Given the description of an element on the screen output the (x, y) to click on. 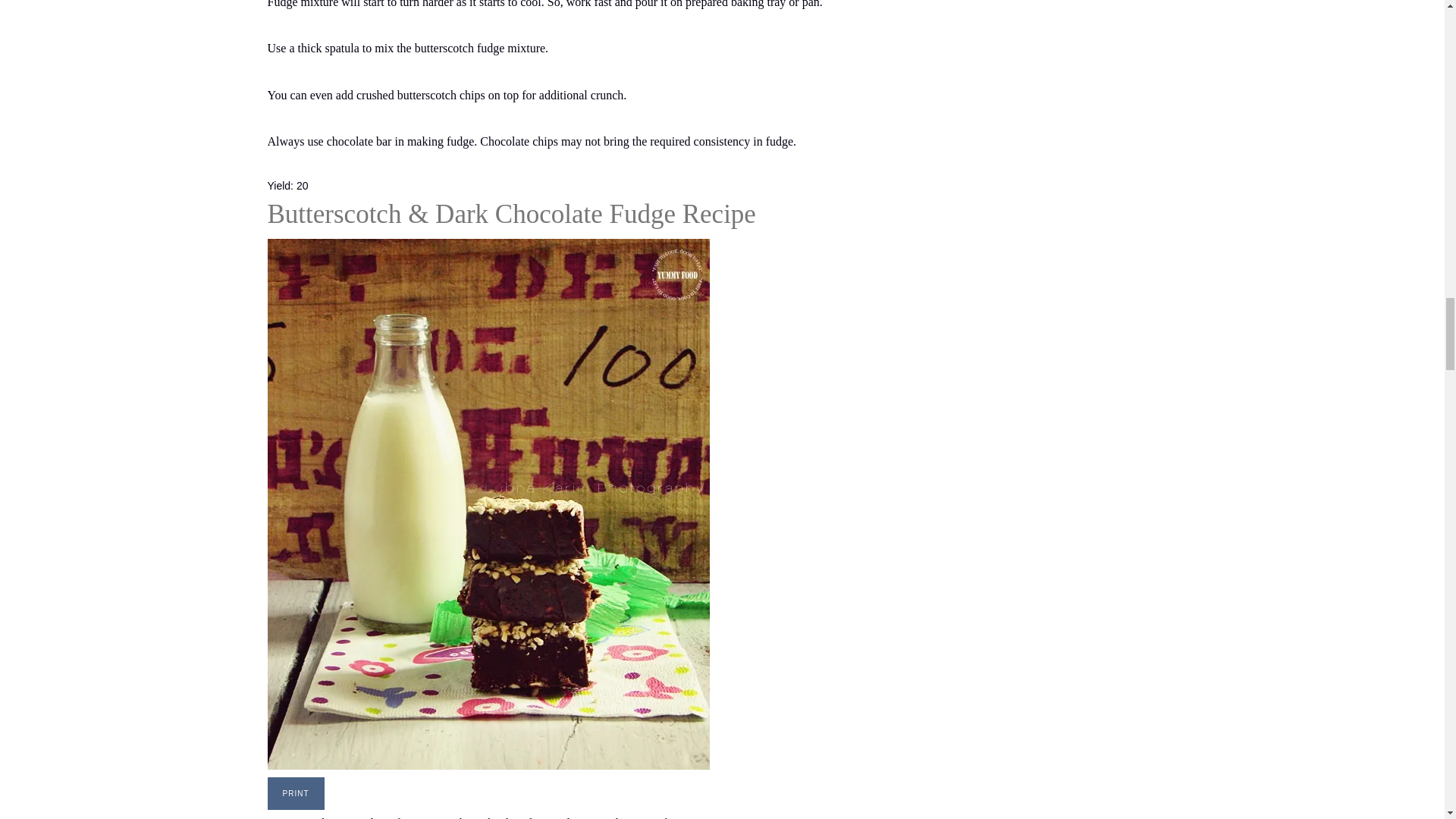
PRINT (294, 793)
